Given the description of an element on the screen output the (x, y) to click on. 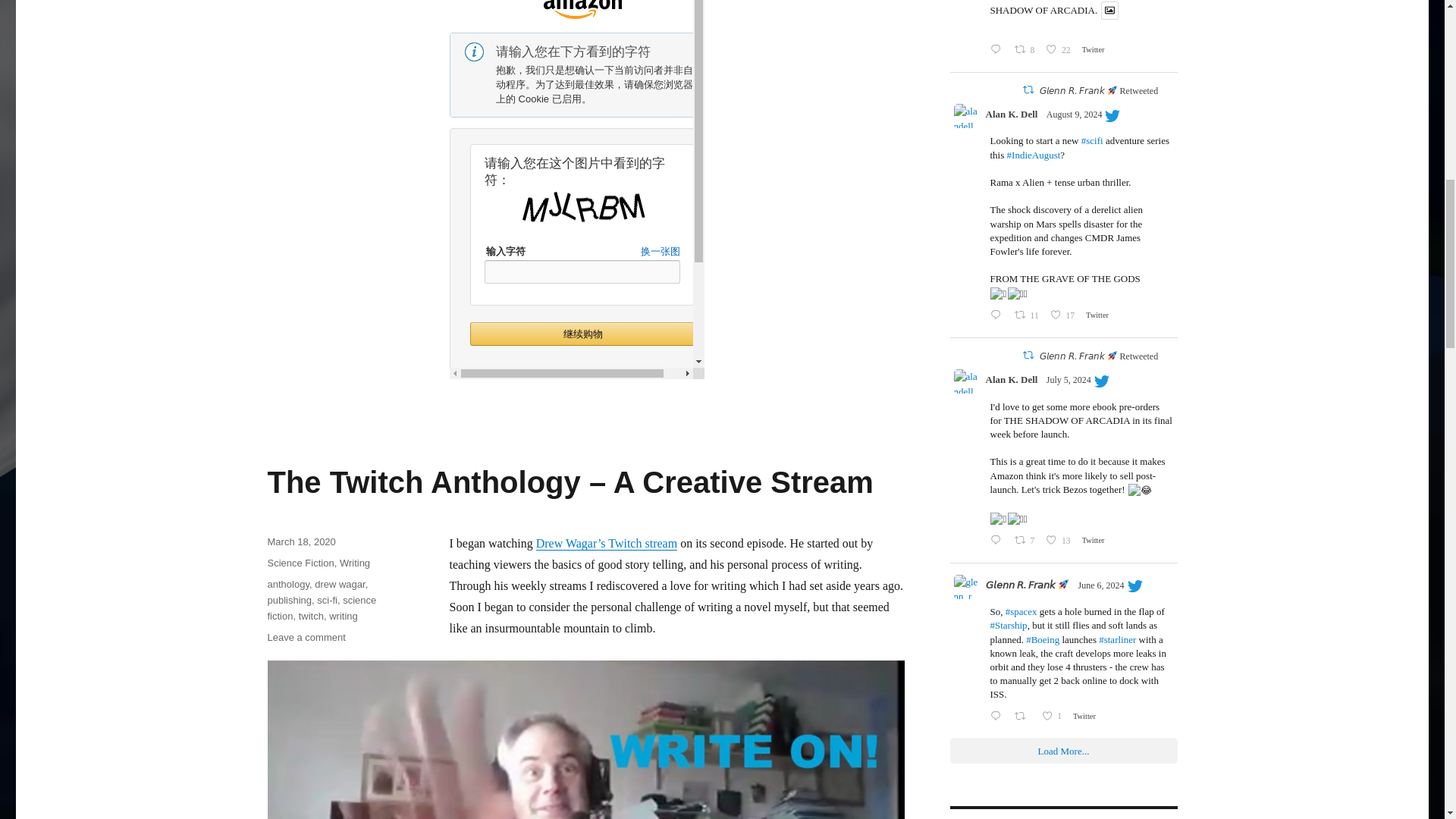
Science Fiction (299, 562)
twitch (310, 615)
sci-fi (327, 600)
Writing (354, 562)
science fiction (320, 607)
March 18, 2020 (300, 541)
drew wagar (339, 583)
publishing (288, 600)
anthology (287, 583)
writing (343, 615)
